Given the description of an element on the screen output the (x, y) to click on. 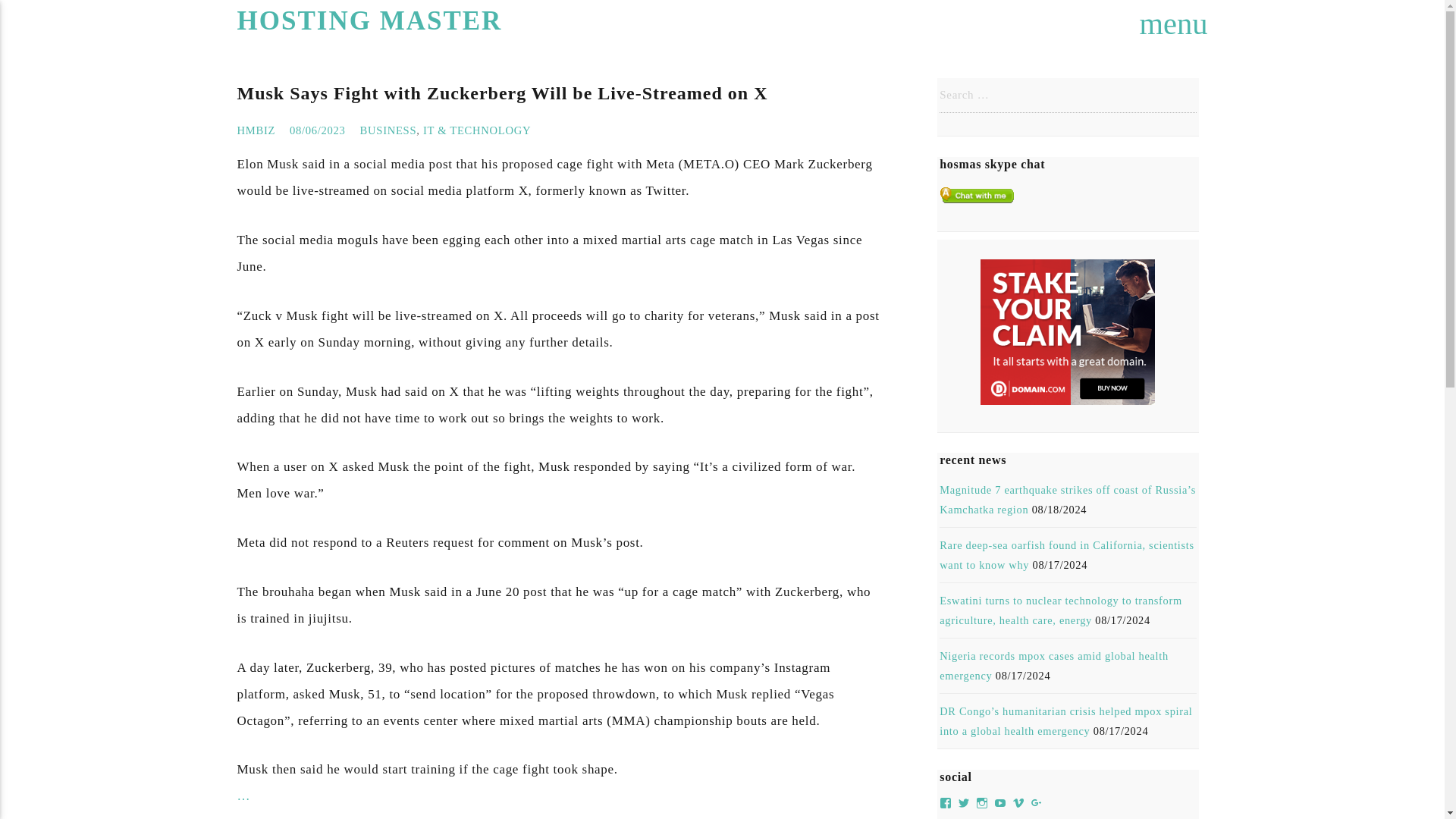
BUSINESS (387, 130)
YouTube (1000, 802)
Facebook (945, 802)
Twitter (964, 802)
Instagram (981, 802)
menu (1174, 24)
Nigeria records mpox cases amid global health emergency (1054, 665)
HOSTING MASTER (368, 21)
Search (24, 20)
